Given the description of an element on the screen output the (x, y) to click on. 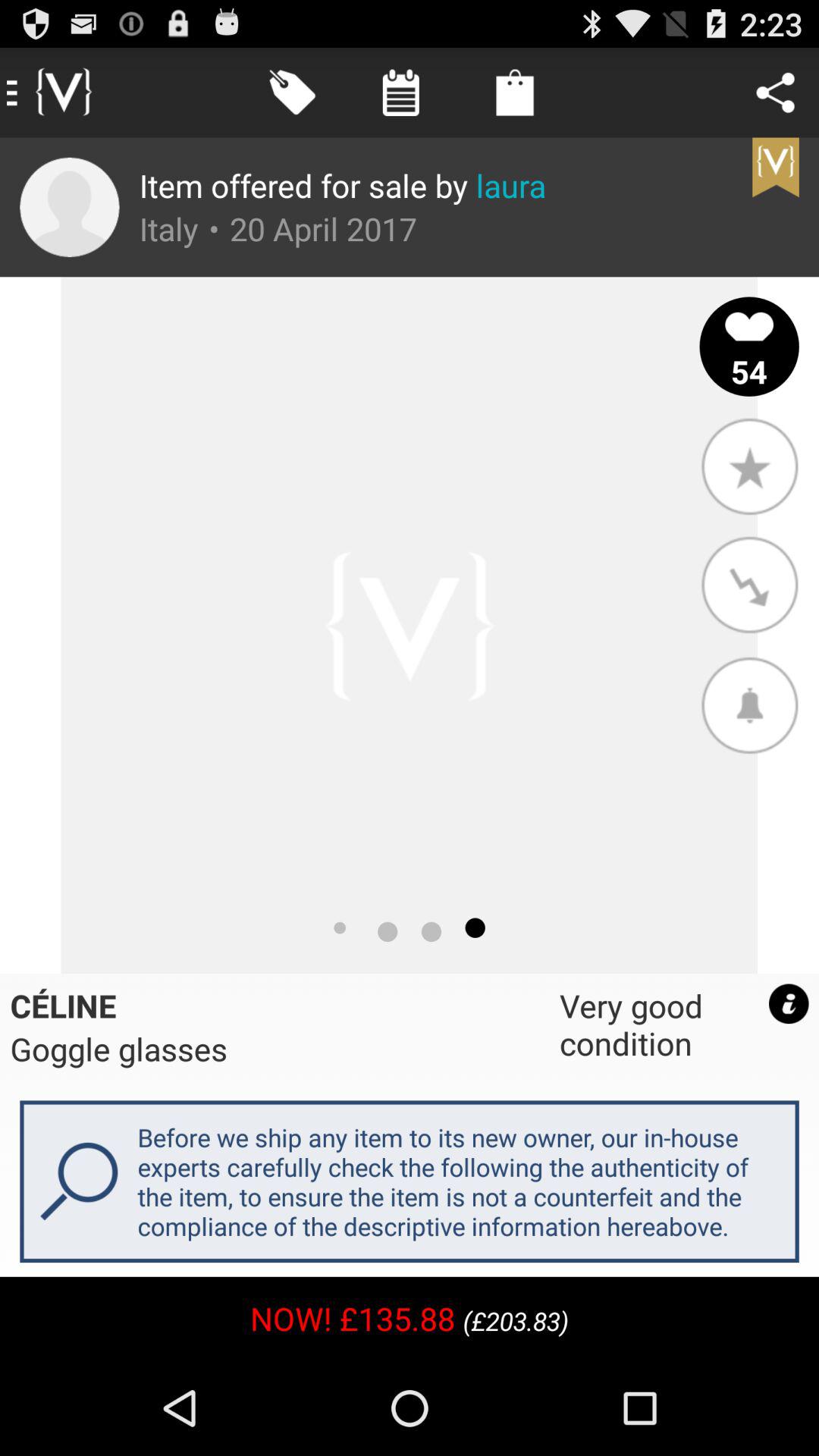
tap app above italy item (342, 185)
